Given the description of an element on the screen output the (x, y) to click on. 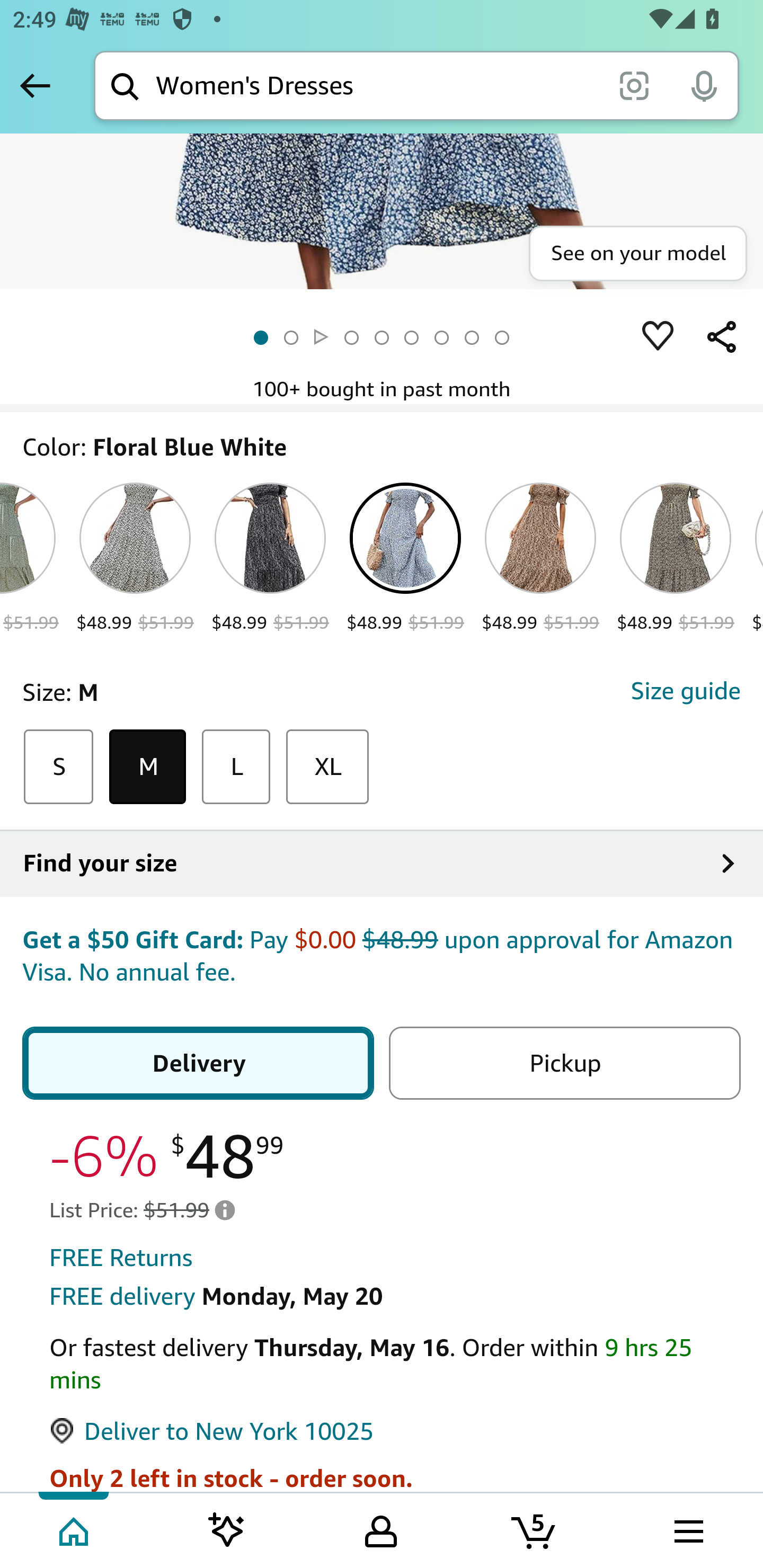
Back (35, 85)
scan it (633, 85)
See on your model (637, 253)
Heart to save an item to your default list (657, 337)
Size guide (684, 692)
S (58, 767)
M (147, 767)
L (236, 767)
XL (327, 767)
Find your size (381, 864)
Delivery (201, 1063)
Pickup (564, 1063)
Learn more about Amazon pricing and savings (225, 1210)
FREE Returns (121, 1259)
FREE delivery (122, 1297)
Deliver to New York 10025‌ (212, 1432)
Home Tab 1 of 5 (75, 1529)
Inspire feed Tab 2 of 5 (227, 1529)
Your Amazon.com Tab 3 of 5 (380, 1529)
Cart 5 items Tab 4 of 5 5 (534, 1529)
Browse menu Tab 5 of 5 (687, 1529)
